Given the description of an element on the screen output the (x, y) to click on. 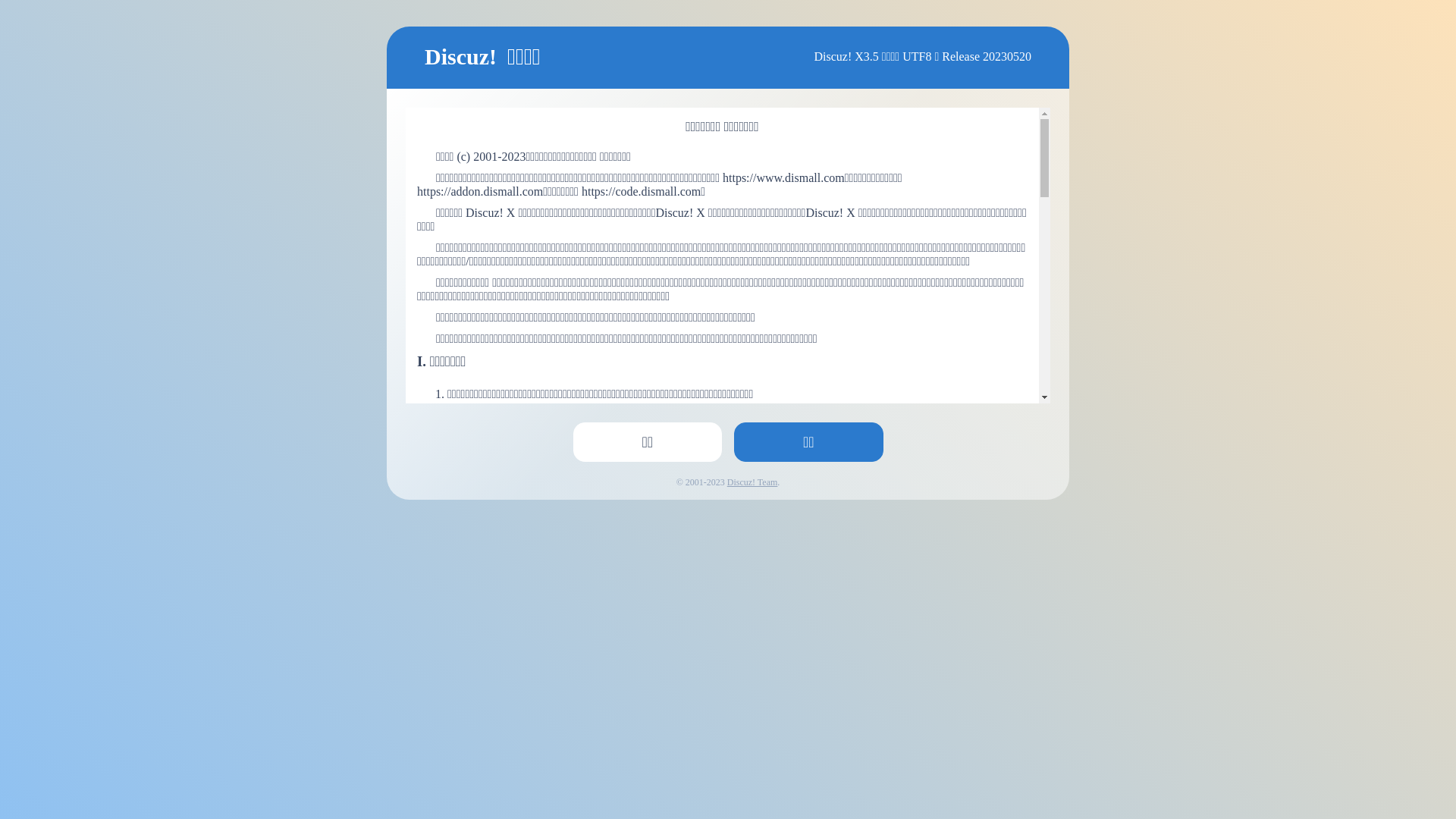
Discuz! Team Element type: text (752, 481)
